Given the description of an element on the screen output the (x, y) to click on. 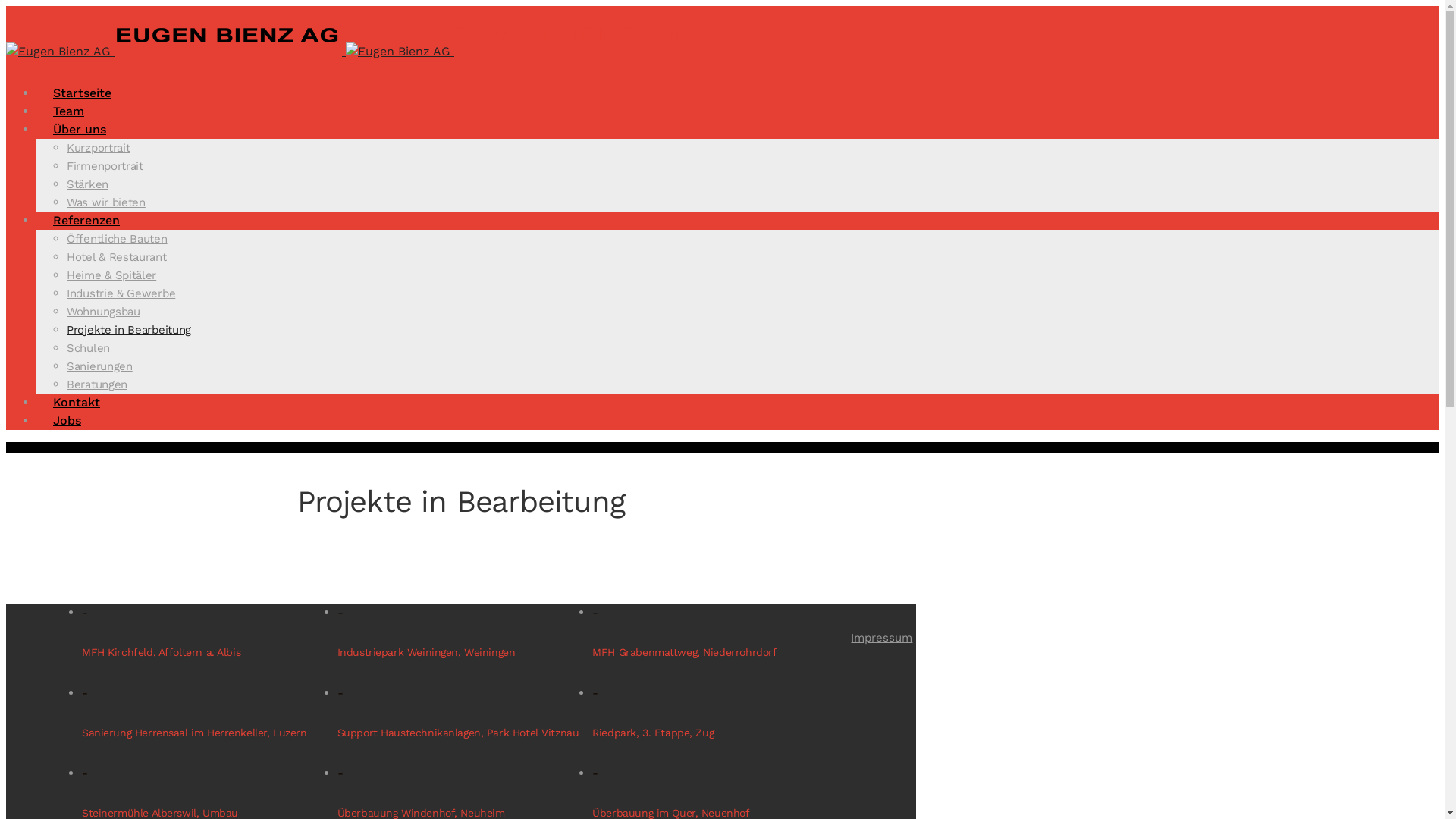
Kurzportrait Element type: text (97, 147)
Was wir bieten Element type: text (105, 202)
Referenzen Element type: text (86, 220)
Hotel & Restaurant Element type: text (116, 256)
Firmenportrait Element type: text (104, 165)
Projekte in Bearbeitung Element type: text (128, 329)
Startseite Element type: text (82, 92)
Impressum Element type: text (881, 637)
Industrie & Gewerbe Element type: text (120, 293)
Sanierungen Element type: text (99, 366)
Schulen Element type: text (87, 347)
Kontakt Element type: text (76, 402)
Team Element type: text (68, 110)
Jobs Element type: text (66, 420)
Wohnungsbau Element type: text (103, 311)
Beratungen Element type: text (96, 384)
